Given the description of an element on the screen output the (x, y) to click on. 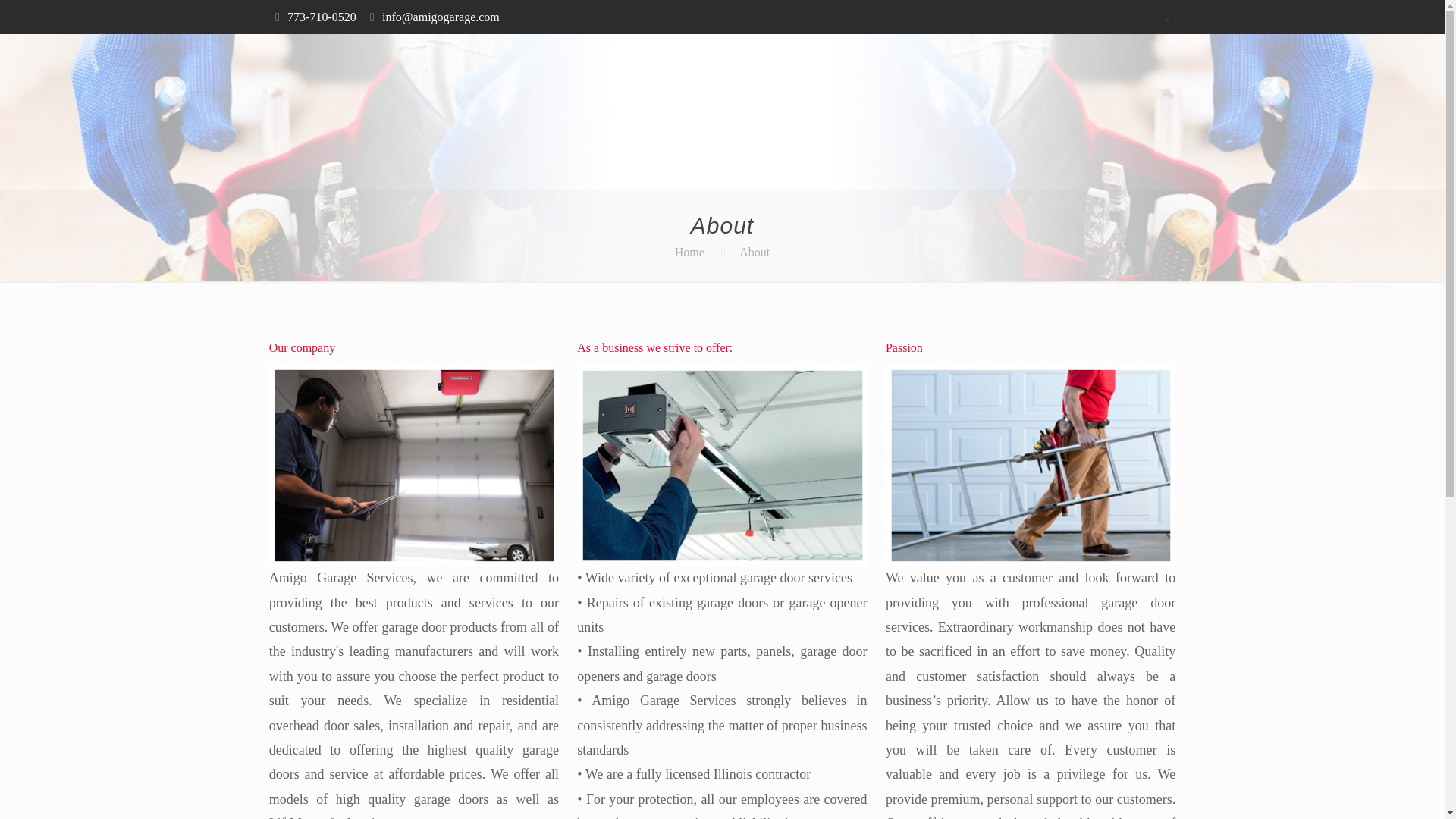
773-710-0520 (321, 16)
About (754, 251)
Facebook (1166, 17)
Home (689, 251)
